Given the description of an element on the screen output the (x, y) to click on. 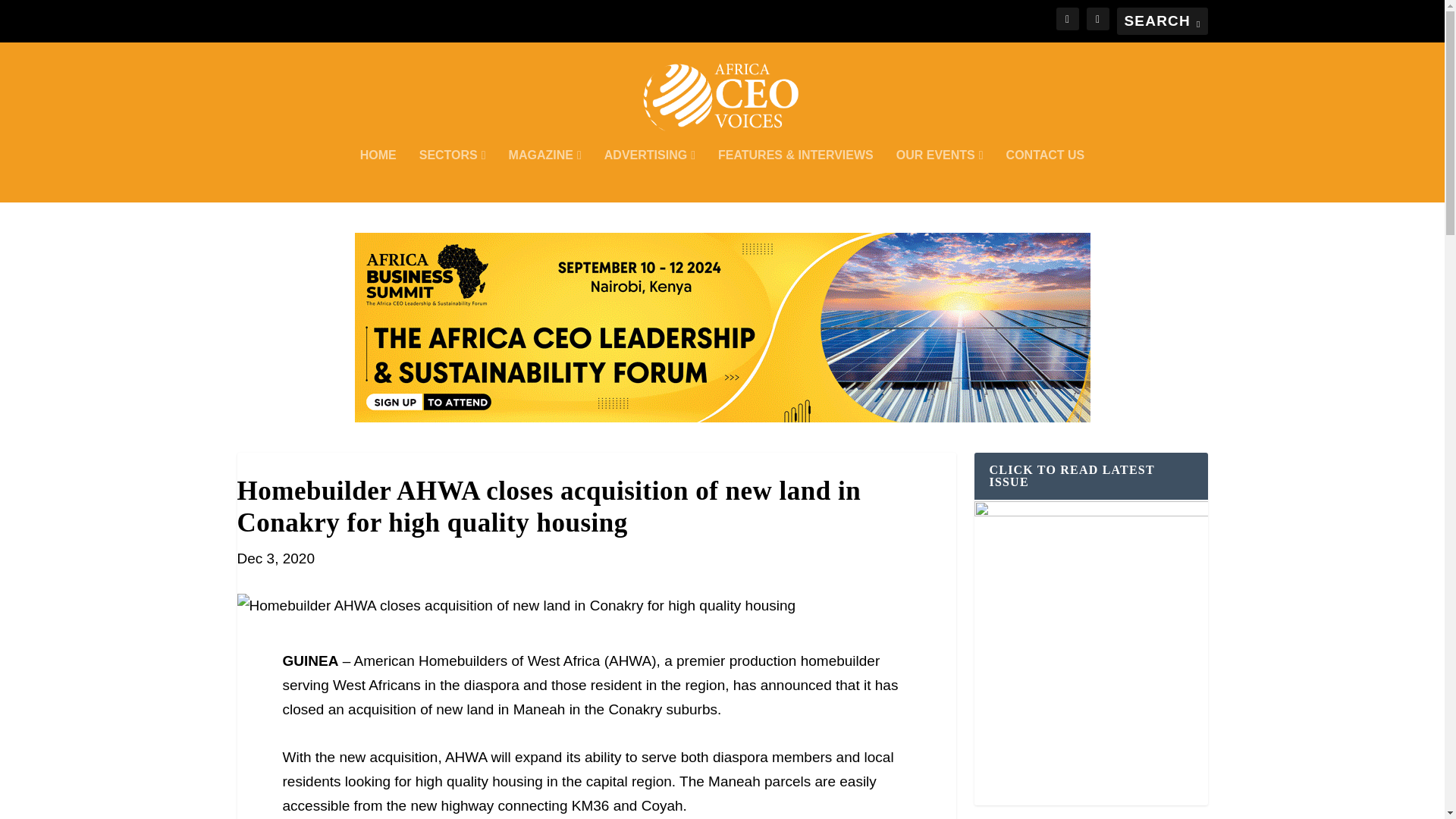
MAGAZINE (544, 175)
SECTORS (452, 175)
OUR EVENTS (940, 175)
ADVERTISING (649, 175)
CONTACT US (1045, 175)
Search for: (1161, 21)
